Given the description of an element on the screen output the (x, y) to click on. 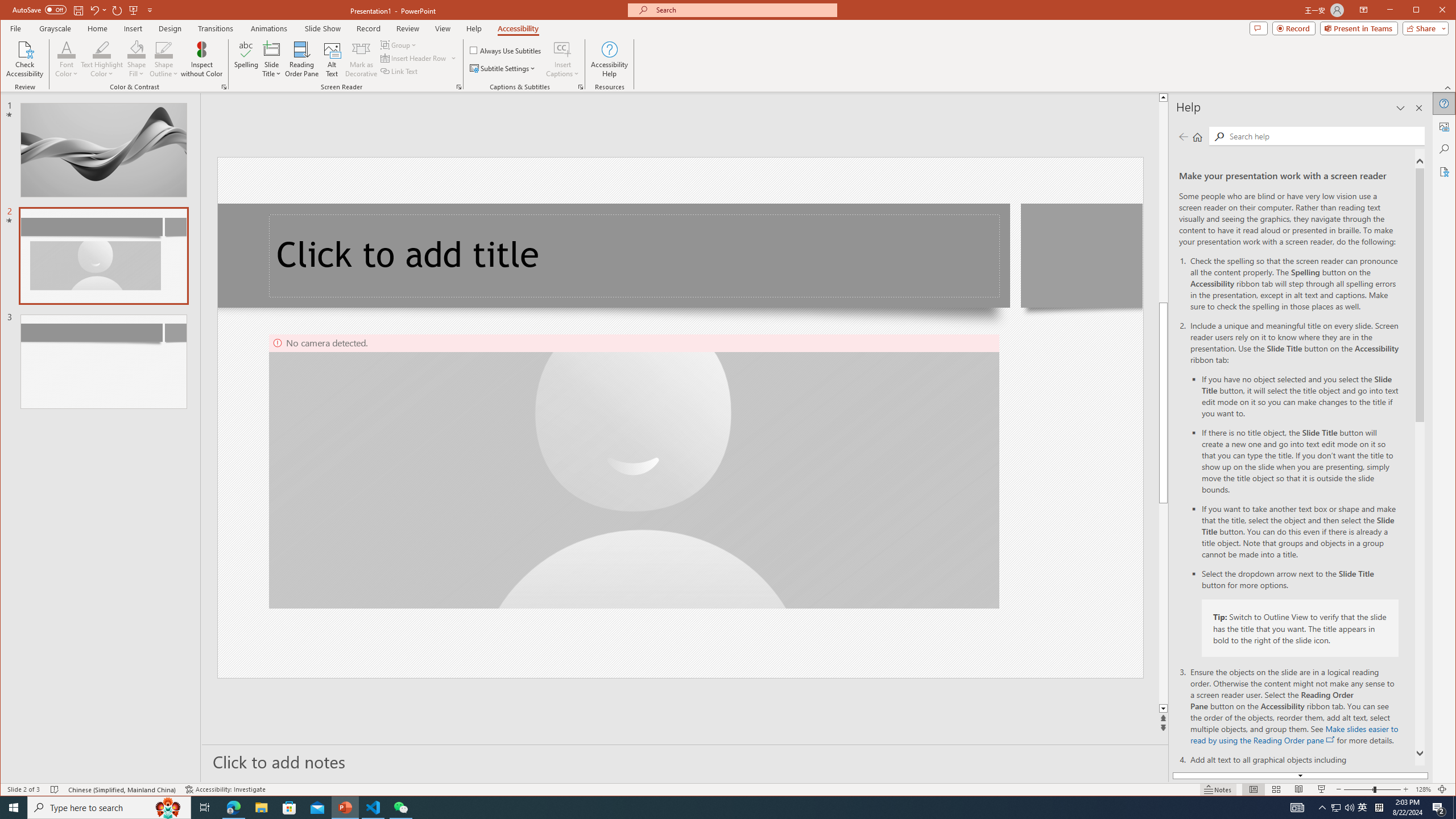
Search (1323, 135)
Text Highlight Color (102, 48)
Slide Title (271, 59)
Inspect without Color (201, 59)
Zoom 128% (1422, 789)
Microsoft Edge - 1 running window (233, 807)
Insert Header Row (413, 57)
Shape Fill Orange, Accent 2 (136, 48)
Insert Header Row (418, 57)
